Given the description of an element on the screen output the (x, y) to click on. 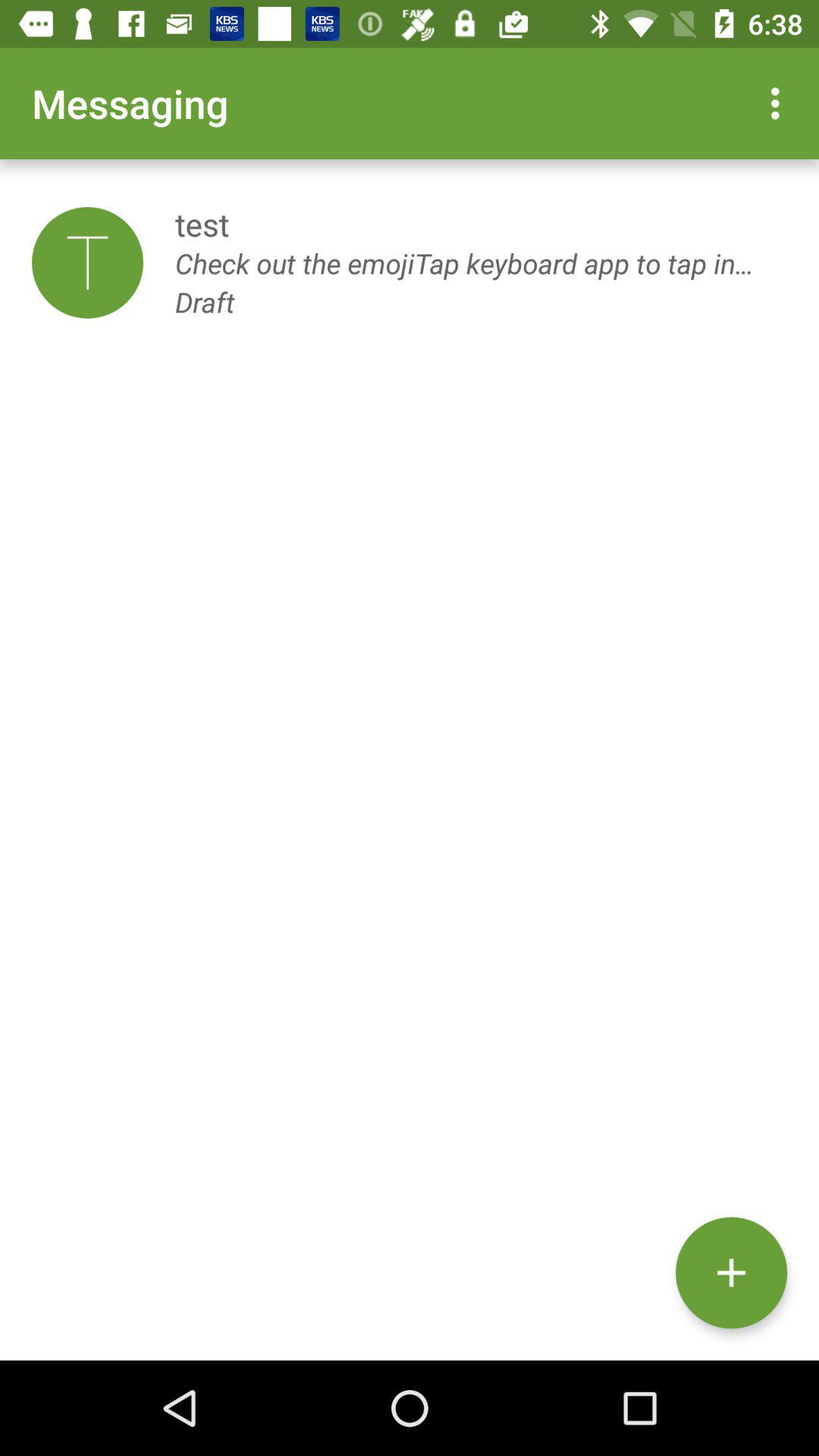
choose the item next to the test item (87, 262)
